Given the description of an element on the screen output the (x, y) to click on. 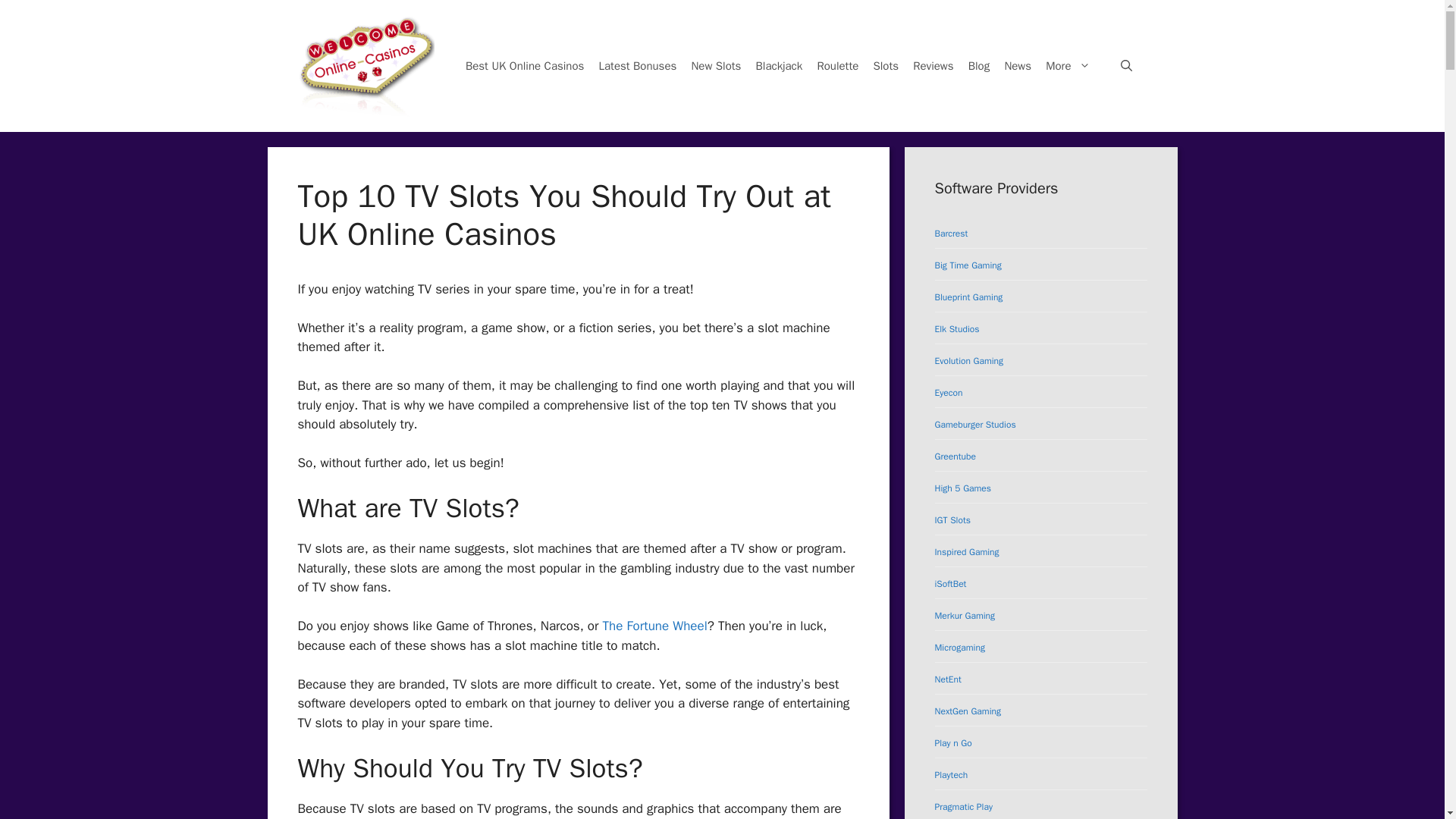
New Slots (716, 65)
News (1018, 65)
Best UK Online Casinos (524, 65)
More (1072, 65)
Roulette (837, 65)
The Fortune Wheel (654, 625)
Reviews (932, 65)
Latest Bonuses (637, 65)
Blackjack (778, 65)
